Given the description of an element on the screen output the (x, y) to click on. 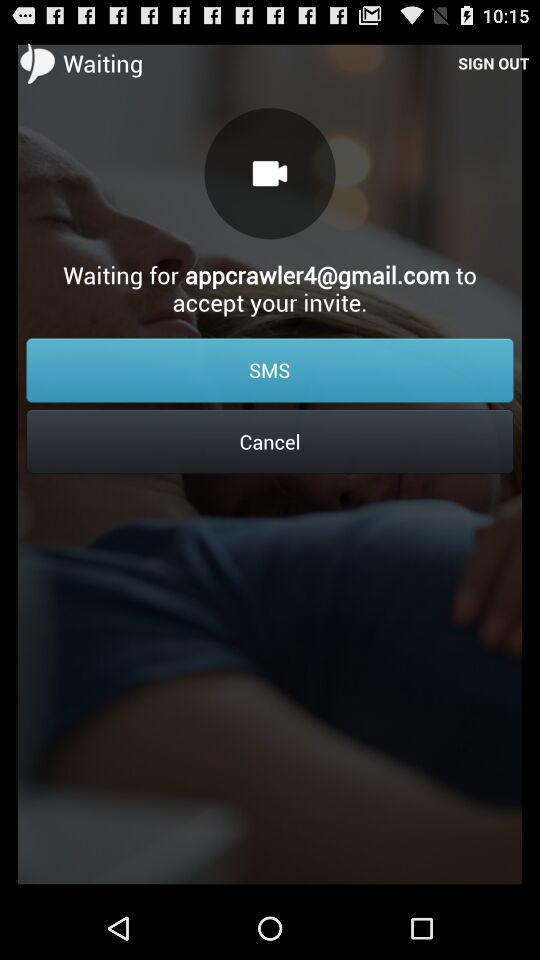
click the icon above the waiting for appcrawler4 item (493, 62)
